Given the description of an element on the screen output the (x, y) to click on. 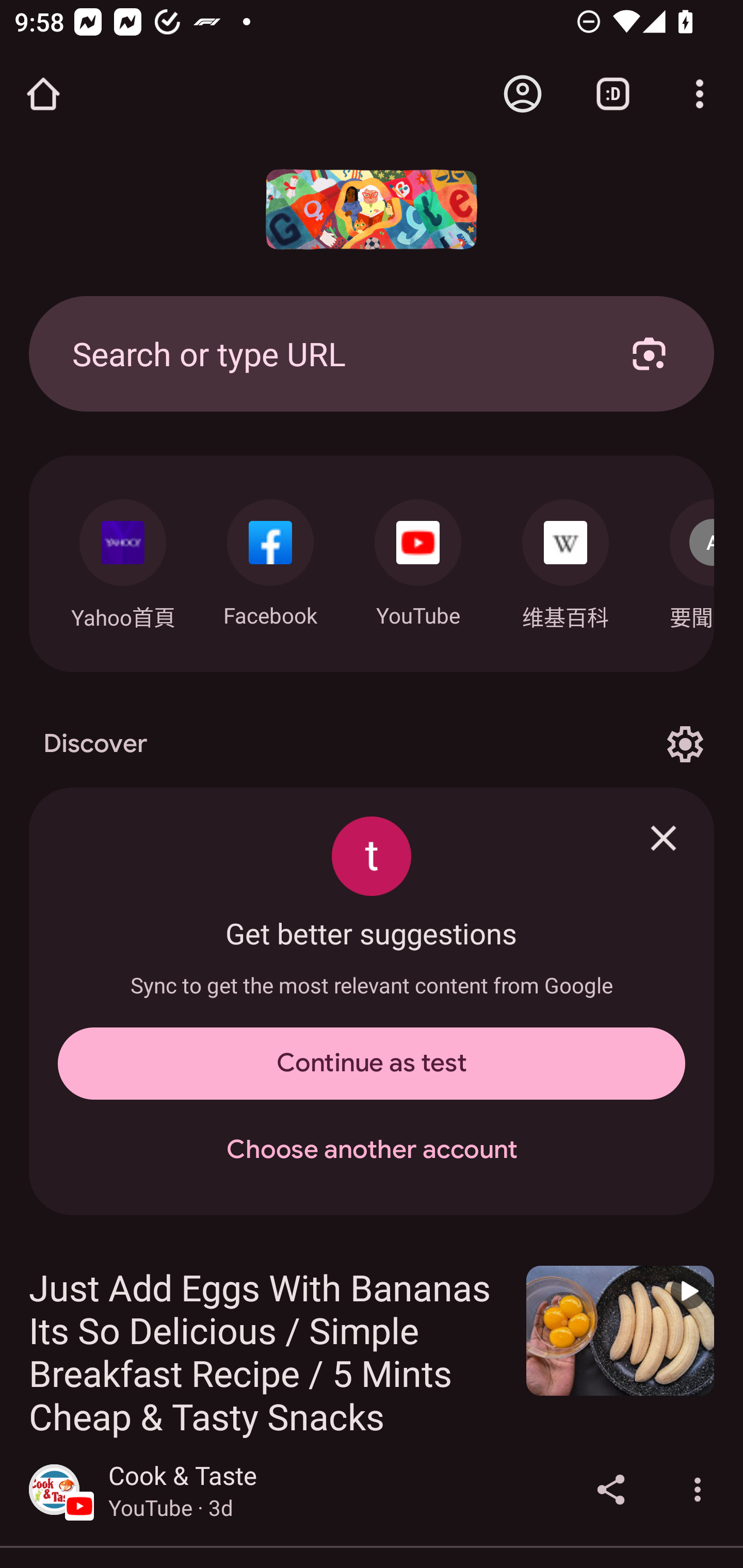
Open the home page (43, 93)
Switch or close tabs (612, 93)
Customize and control Google Chrome (699, 93)
Google doodle: 2024 年国际妇女节 (371, 209)
Search or type URL (327, 353)
Search with your camera using Google Lens (648, 353)
Navigate: Yahoo首頁: hk.mobi.yahoo.com Yahoo首頁 (122, 558)
Navigate: Facebook: m.facebook.com Facebook (270, 558)
Navigate: YouTube: m.youtube.com YouTube (417, 558)
Navigate: 维基百科: zh.m.wikipedia.org 维基百科 (565, 558)
Options for Discover (684, 743)
Close (663, 837)
Continue as test (371, 1063)
Choose another account (371, 1150)
